Given the description of an element on the screen output the (x, y) to click on. 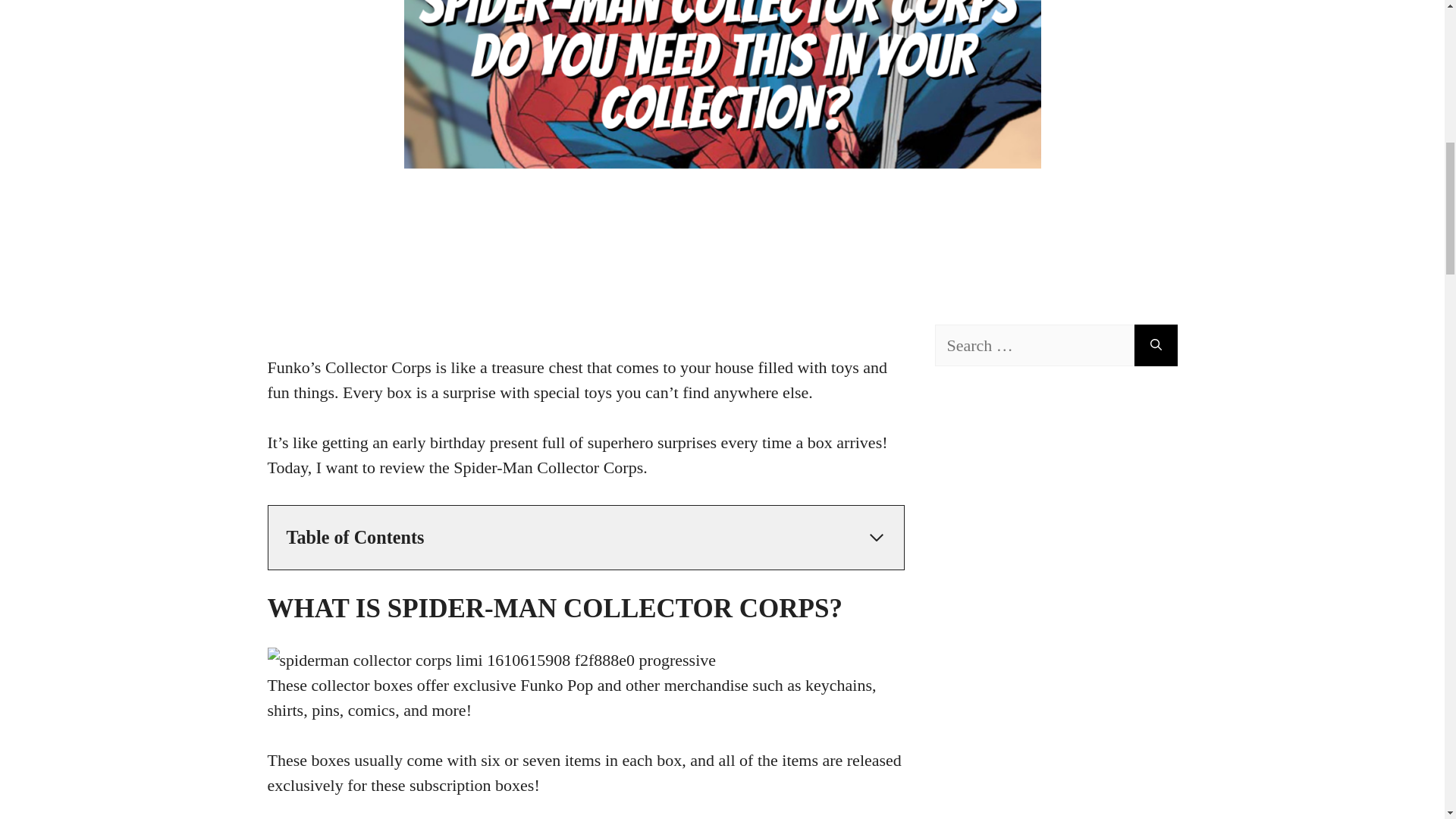
Search for: (1034, 345)
